Given the description of an element on the screen output the (x, y) to click on. 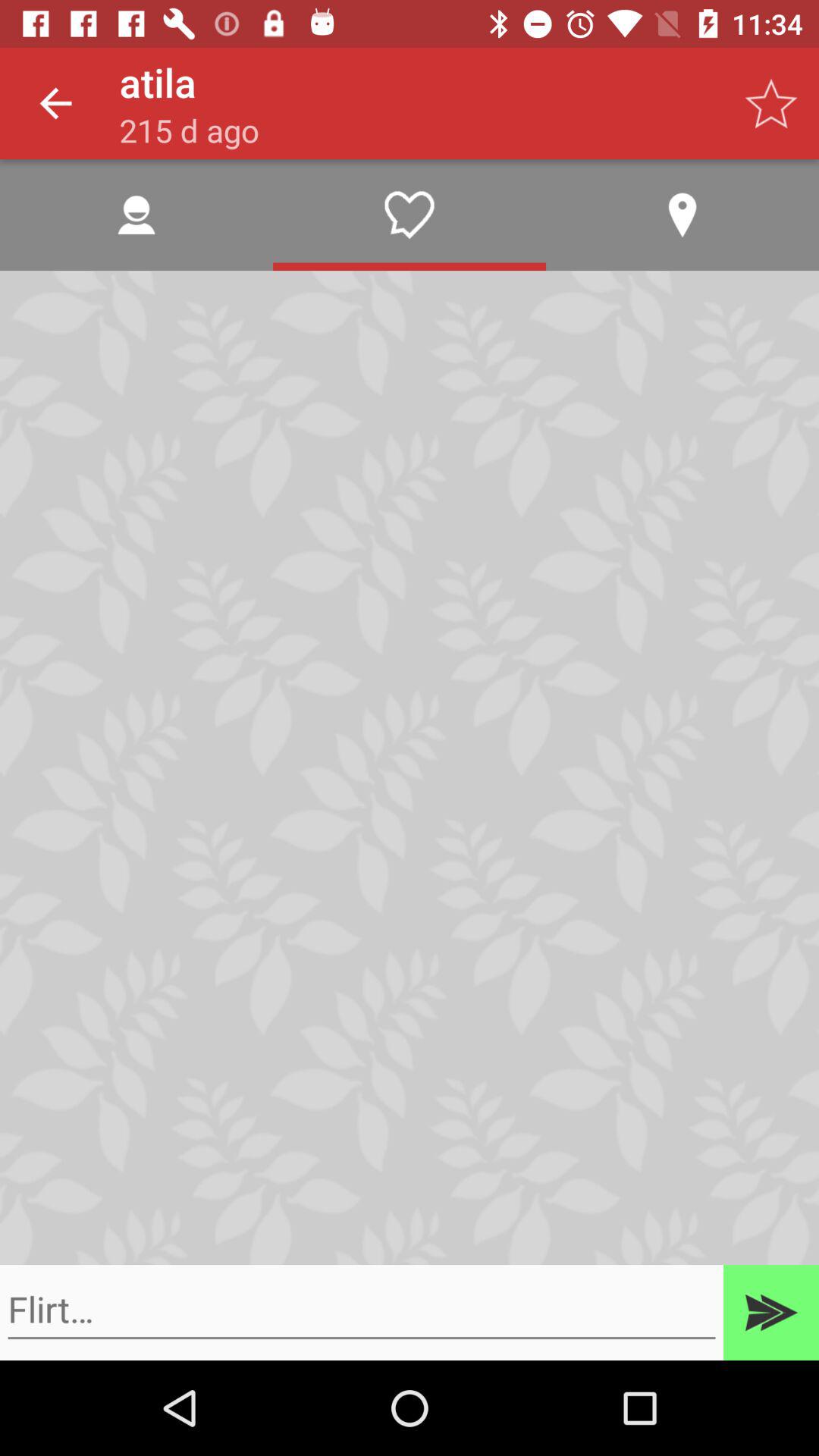
send message (771, 1312)
